Given the description of an element on the screen output the (x, y) to click on. 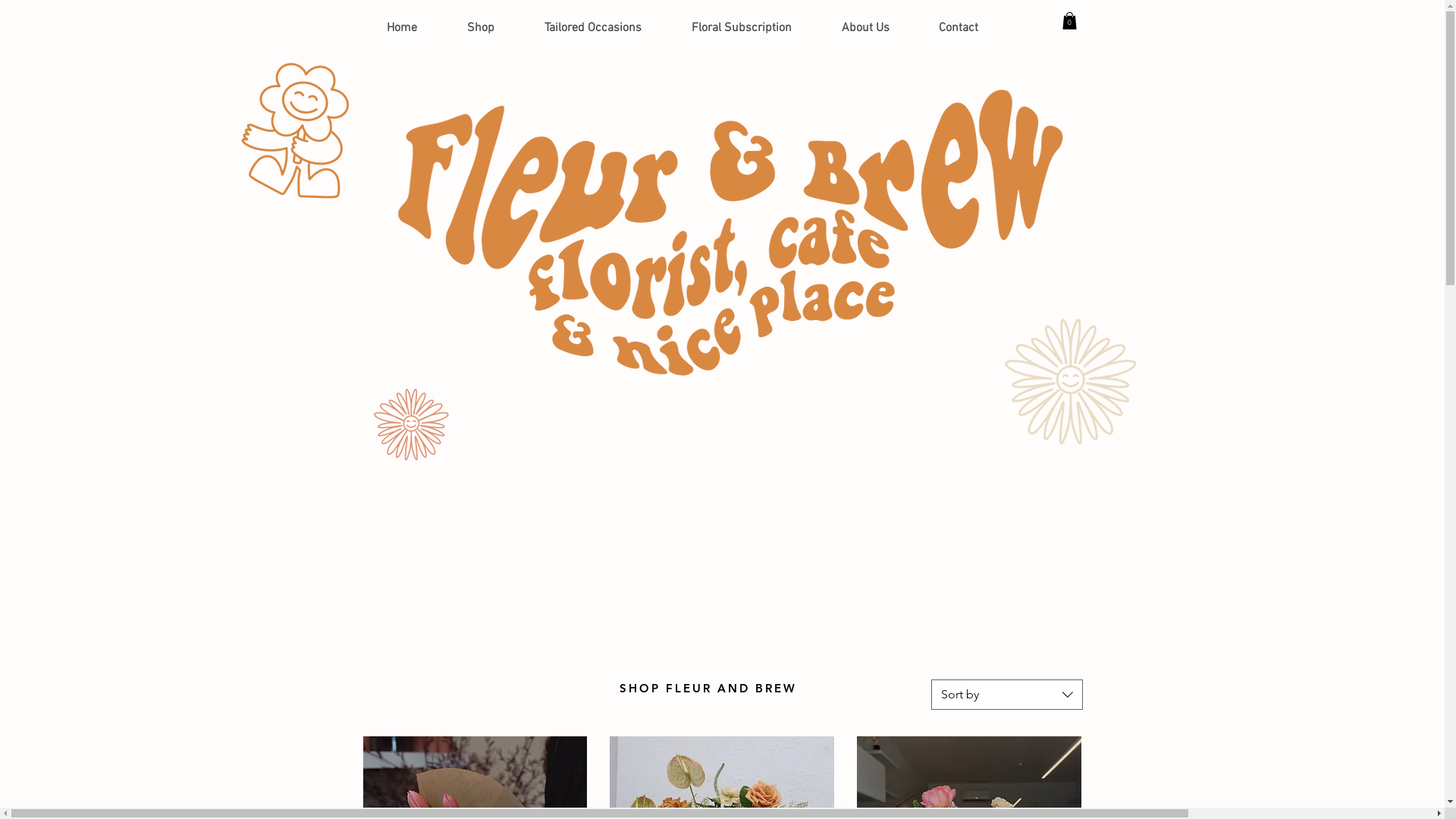
FBDaisy_Peach_RGB.png Element type: hover (407, 422)
Shop Element type: text (479, 27)
Sort by Element type: text (1006, 694)
FBDaisy_Cream_RGB.png Element type: hover (1066, 377)
0 Element type: text (1068, 20)
Home Element type: text (400, 27)
Tailored Occasions Element type: text (591, 27)
Floral Subscription Element type: text (740, 27)
FBWarped_Yellow_RGB.png Element type: hover (722, 238)
About Us Element type: text (864, 27)
Contact Element type: text (958, 27)
FBDancingFlower_Yellow_RGB.png Element type: hover (294, 134)
